Given the description of an element on the screen output the (x, y) to click on. 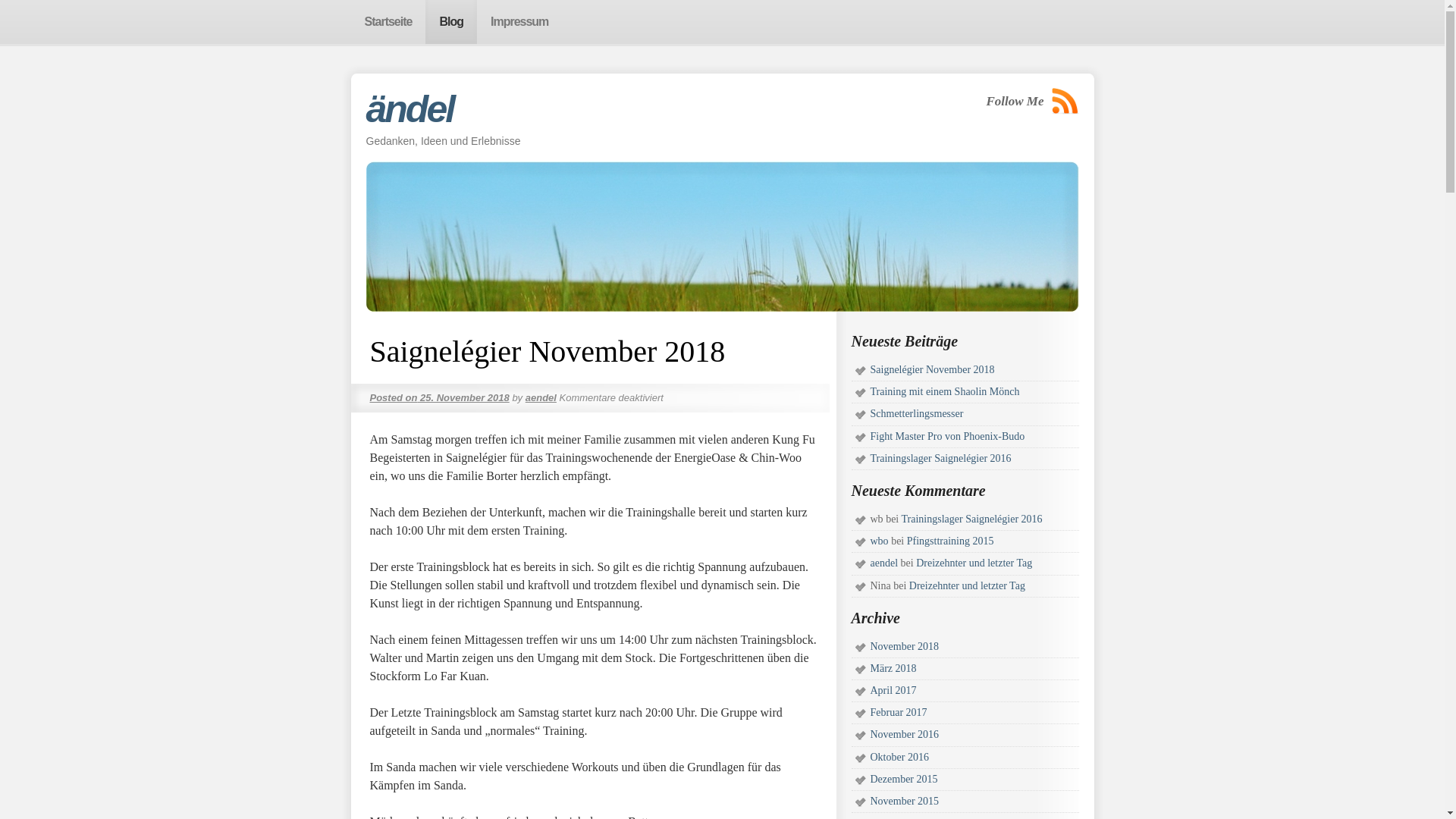
aendel Element type: text (540, 397)
Oktober 2016 Element type: text (899, 756)
wbo Element type: text (879, 540)
Blog Element type: text (450, 21)
Februar 2017 Element type: text (898, 712)
RSS Feed Element type: hover (1064, 100)
Dezember 2015 Element type: text (904, 778)
Posted on 25. November 2018 Element type: text (439, 397)
November 2016 Element type: text (904, 734)
April 2017 Element type: text (893, 690)
Startseite Element type: text (387, 21)
Pfingsttraining 2015 Element type: text (950, 540)
aendel Element type: text (884, 562)
November 2018 Element type: text (904, 646)
Impressum Element type: text (518, 21)
Schmetterlingsmesser Element type: text (916, 413)
November 2015 Element type: text (904, 800)
Dreizehnter und letzter Tag Element type: text (967, 584)
Fight Master Pro von Phoenix-Budo Element type: text (947, 436)
Dreizehnter und letzter Tag Element type: text (974, 562)
